Given the description of an element on the screen output the (x, y) to click on. 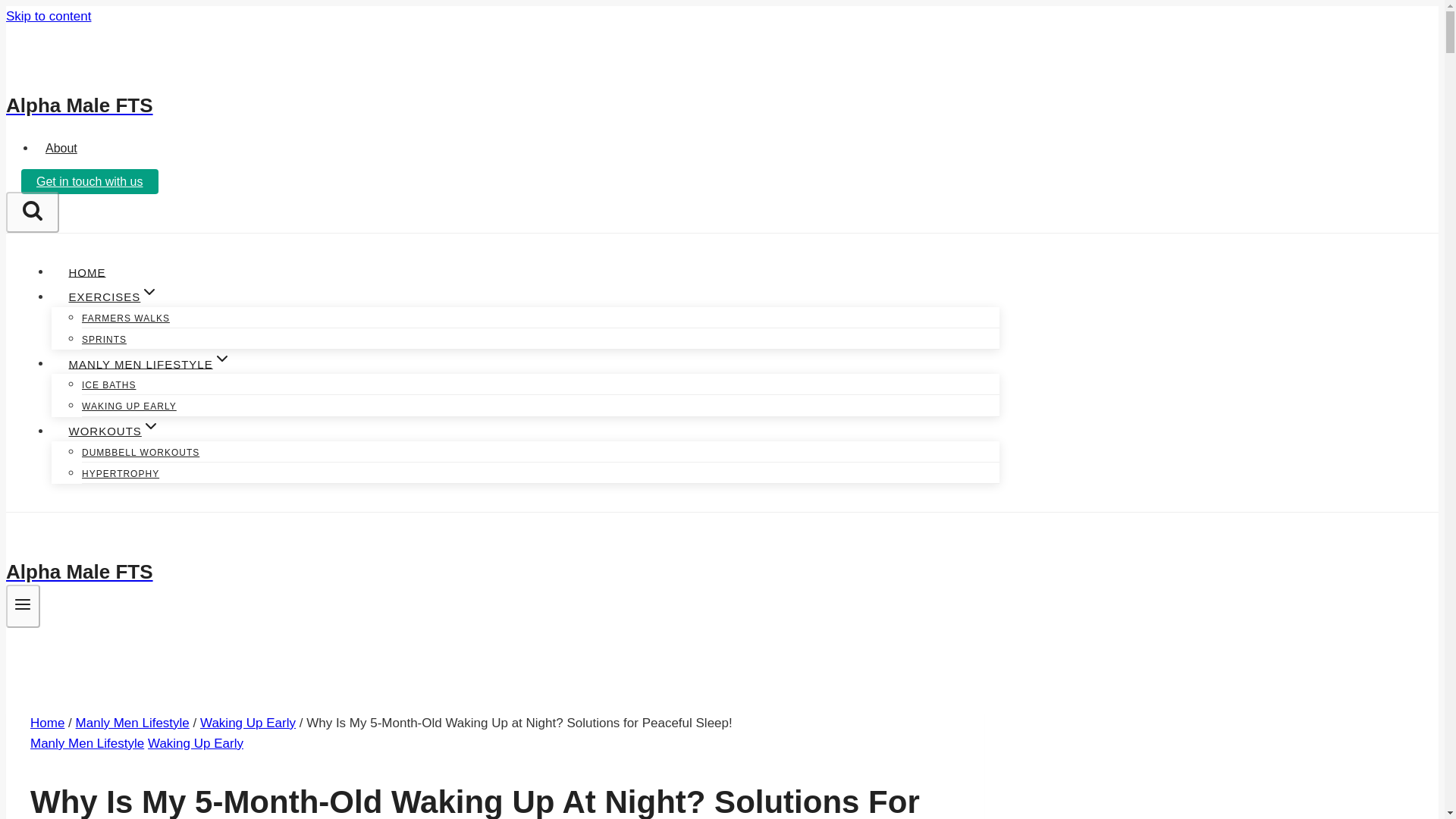
Home (47, 722)
Manly Men Lifestyle (87, 743)
Waking Up Early (247, 722)
DUMBBELL WORKOUTS (140, 452)
EXPAND (221, 358)
EXPAND (148, 291)
FARMERS WALKS (125, 317)
SPRINTS (103, 339)
WAKING UP EARLY (128, 406)
Toggle Menu (22, 604)
